Given the description of an element on the screen output the (x, y) to click on. 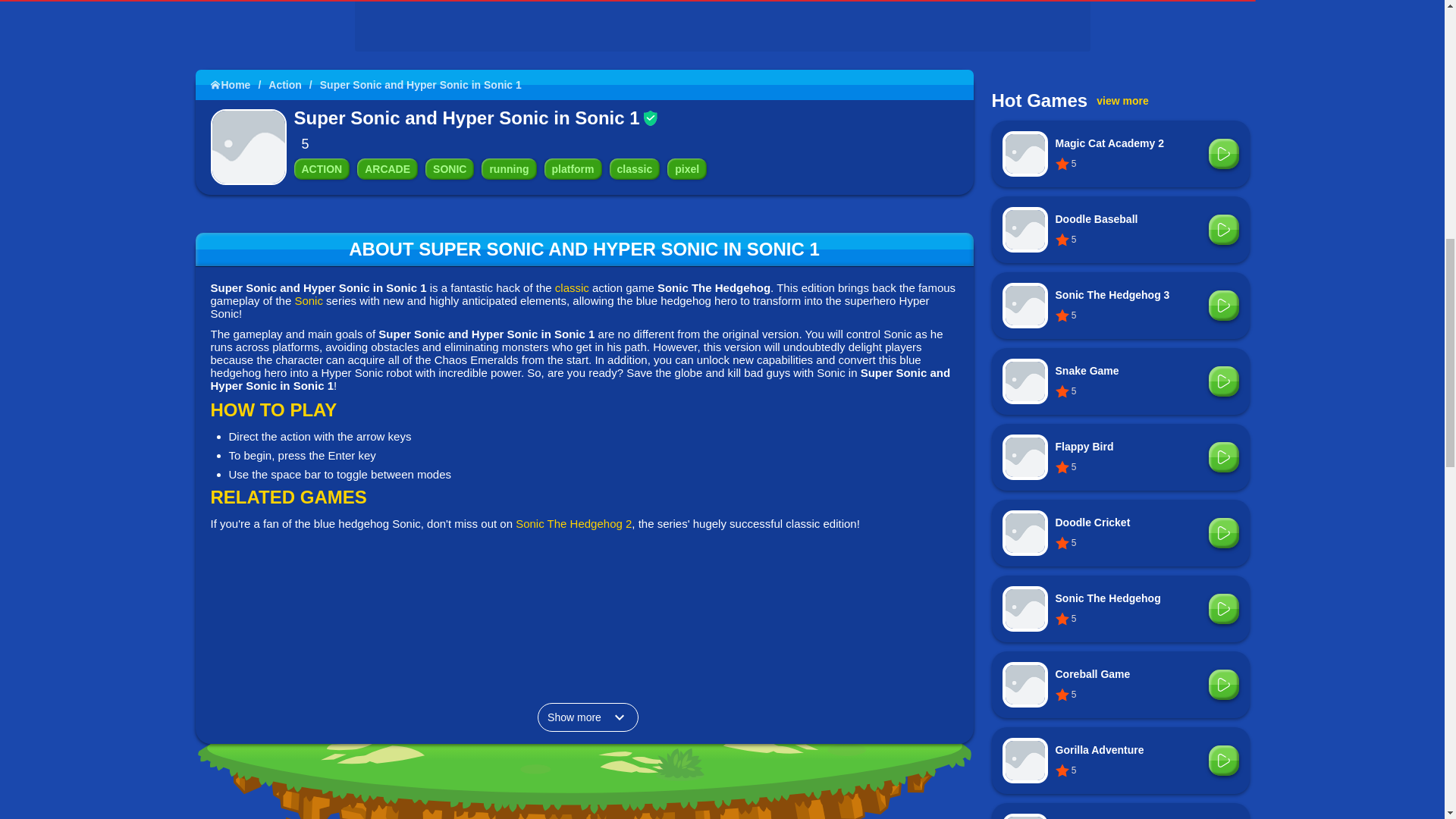
Action (322, 168)
ACTION (322, 168)
Arcade (386, 168)
Home (240, 84)
Sonic (449, 168)
ARCADE (386, 168)
Action (292, 84)
